Given the description of an element on the screen output the (x, y) to click on. 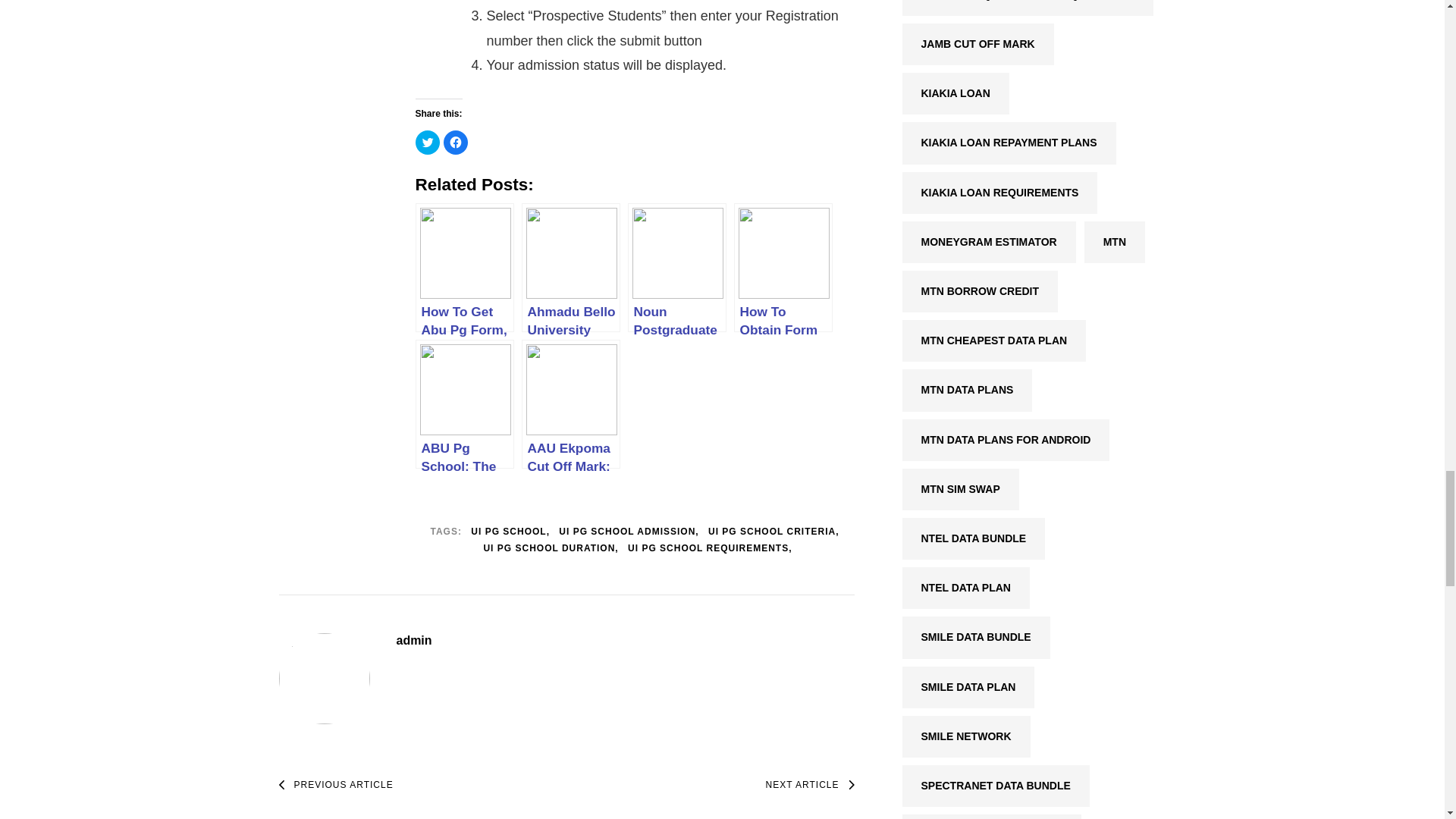
NEXT ARTICLE (809, 785)
UI PG SCHOOL REQUIREMENTS (709, 548)
UI PG SCHOOL DURATION (550, 548)
UI PG SCHOOL ADMISSION (628, 532)
UI PG SCHOOL CRITERIA (772, 532)
Click to share on Twitter (426, 142)
UI PG SCHOOL (510, 532)
PREVIOUS ARTICLE (336, 785)
Click to share on Facebook (454, 142)
